Given the description of an element on the screen output the (x, y) to click on. 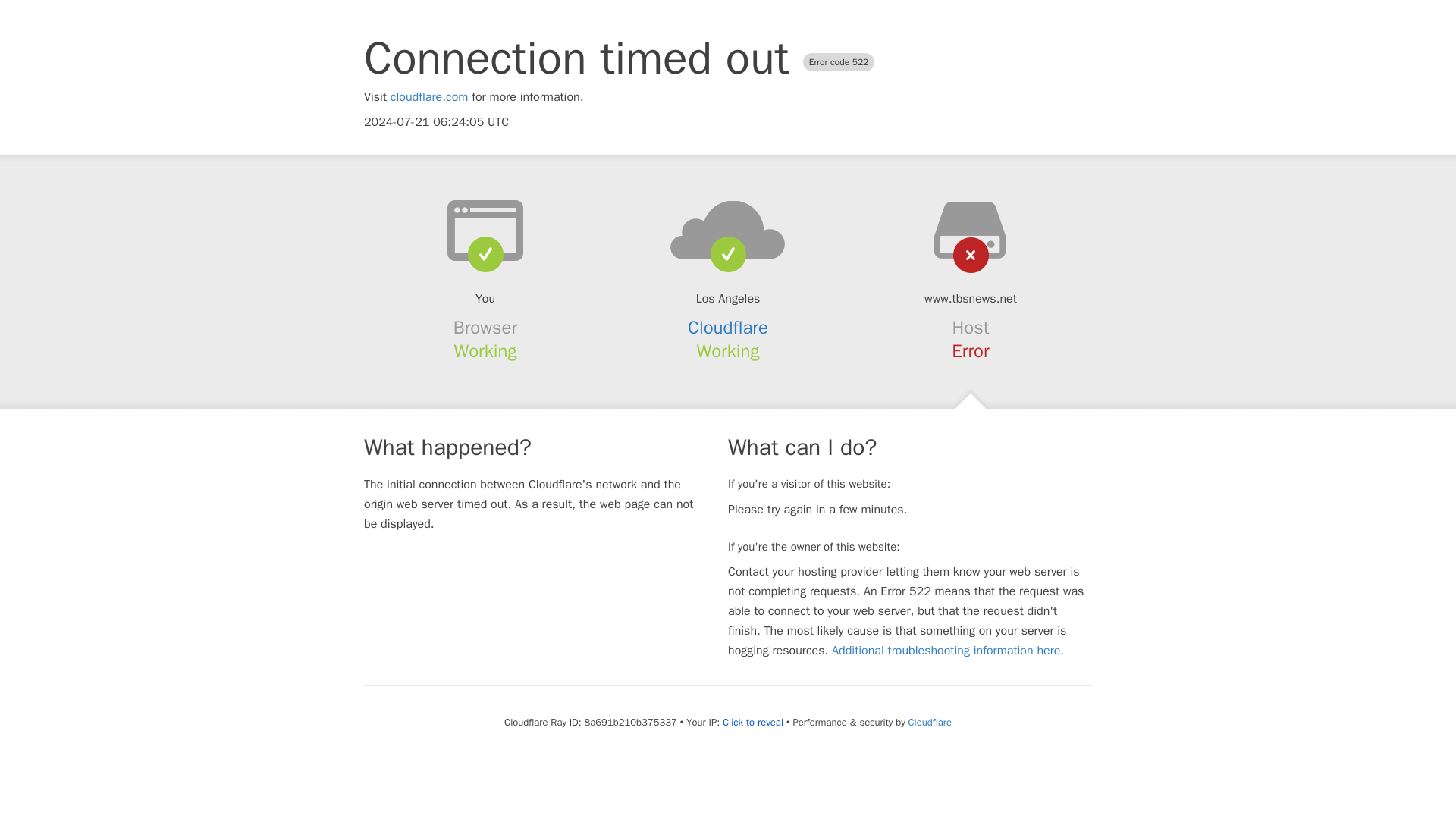
Additional troubleshooting information here. (947, 650)
Cloudflare (727, 327)
cloudflare.com (429, 96)
Click to reveal (752, 722)
Cloudflare (930, 721)
